Given the description of an element on the screen output the (x, y) to click on. 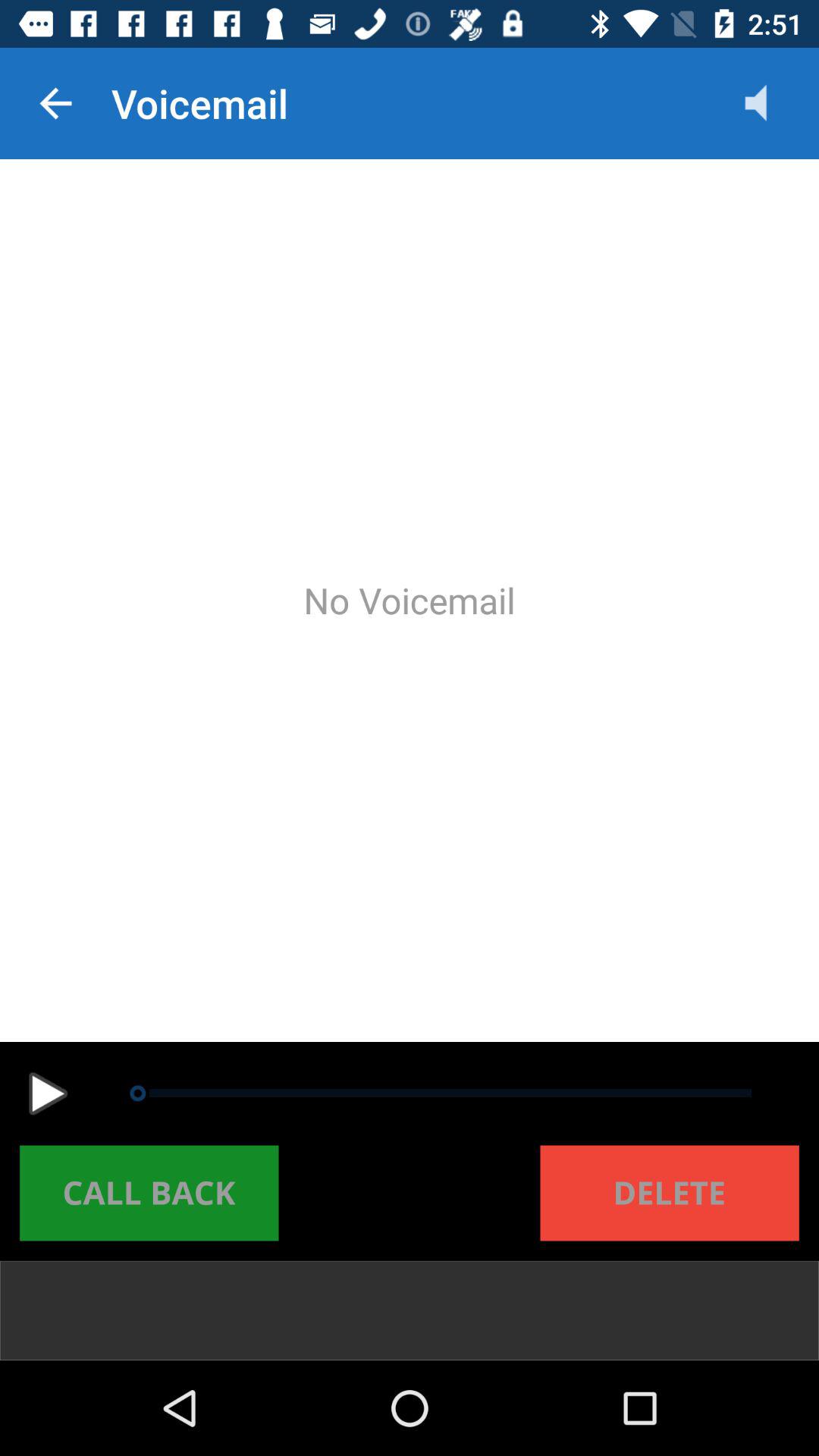
launch the icon next to the voicemail (771, 103)
